Given the description of an element on the screen output the (x, y) to click on. 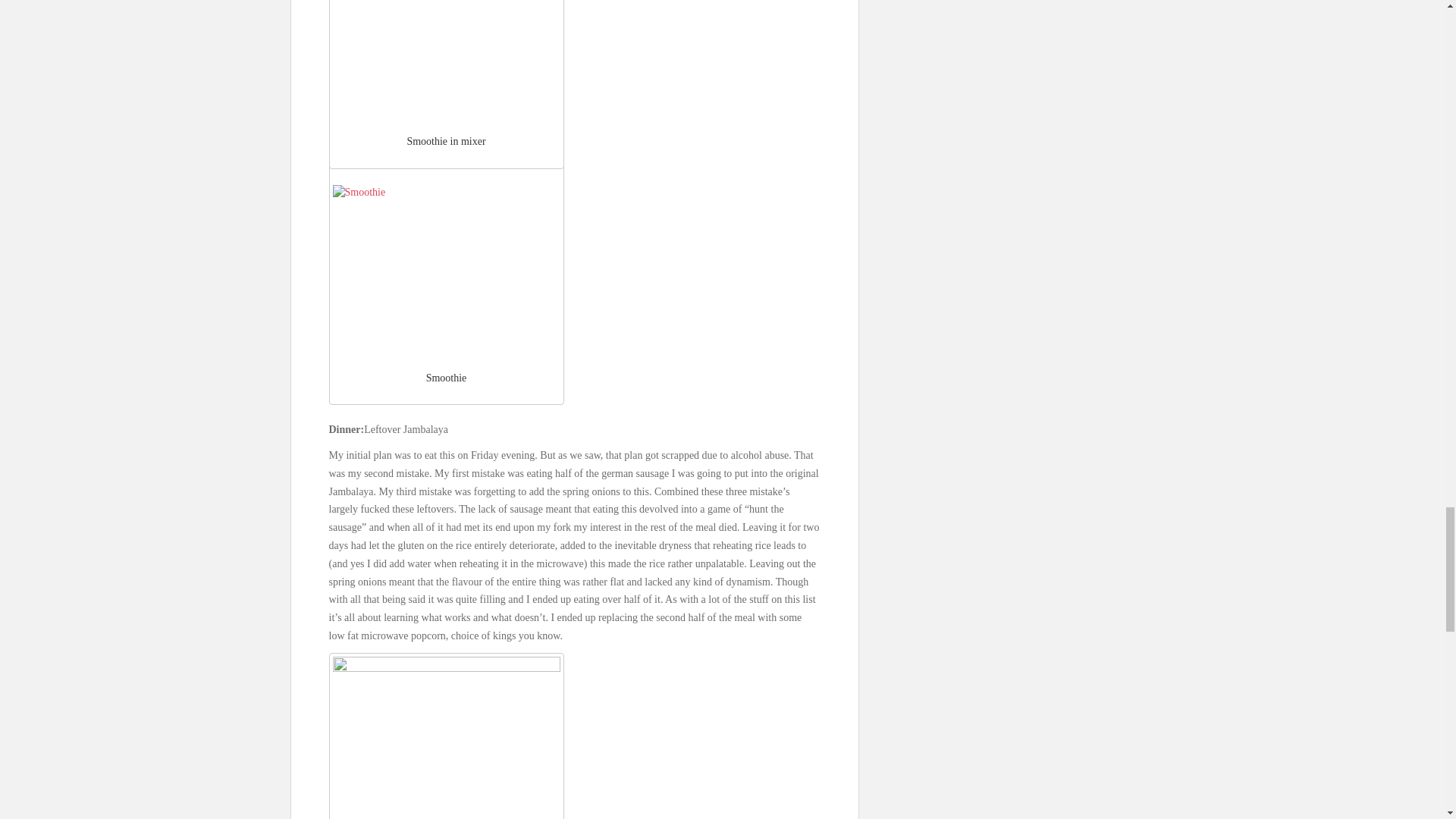
Smoothie (445, 270)
Leftover Jambalaya (445, 737)
Smoothie in mixer (445, 59)
